Given the description of an element on the screen output the (x, y) to click on. 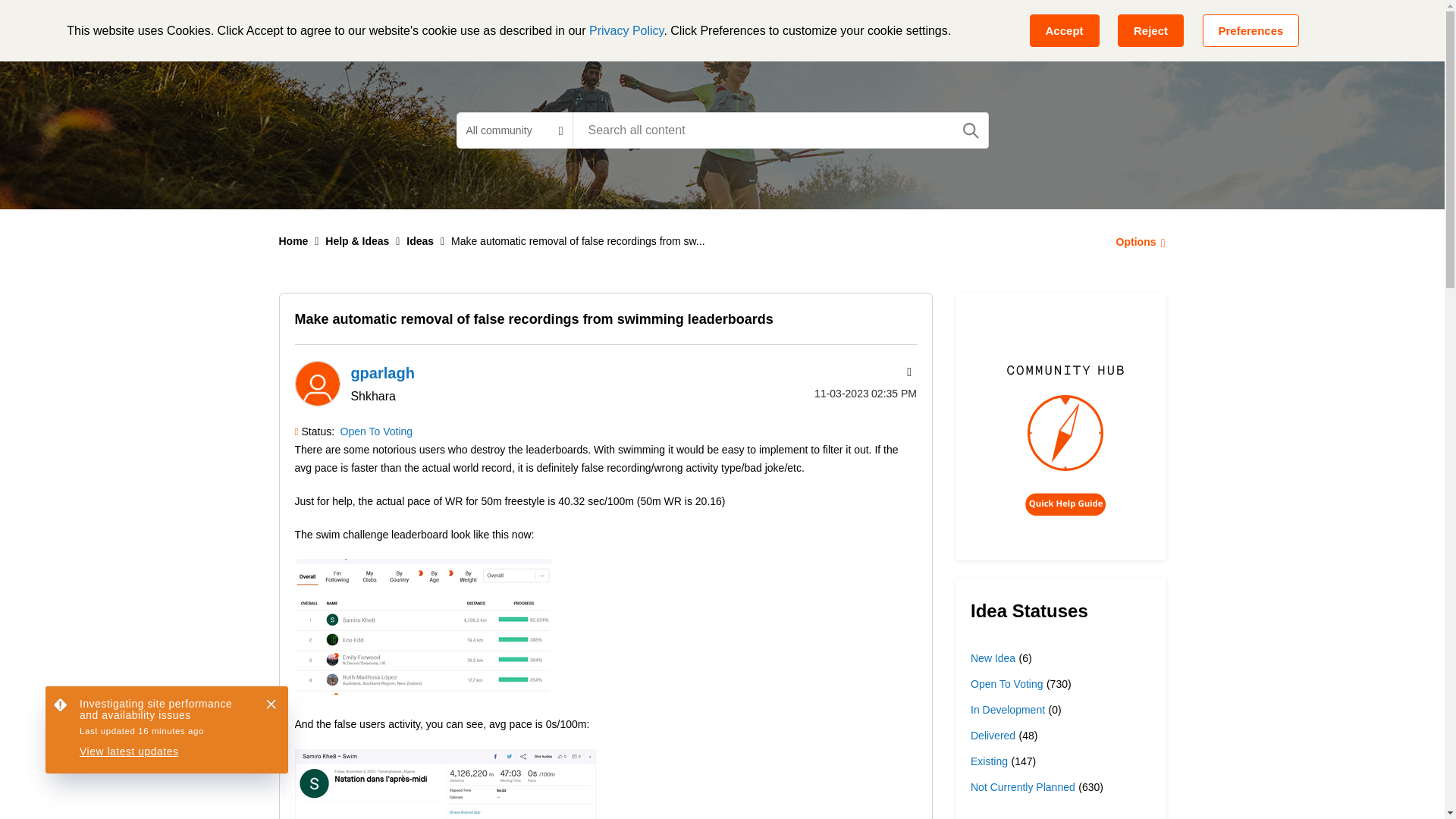
Developers (680, 25)
Accept (1064, 30)
The Club Hub (778, 25)
Posted on (845, 393)
Home (293, 241)
Search (970, 130)
Preferences (1251, 30)
Reject (1150, 30)
Strava Community Hub (363, 25)
Search Granularity (514, 130)
